Given the description of an element on the screen output the (x, y) to click on. 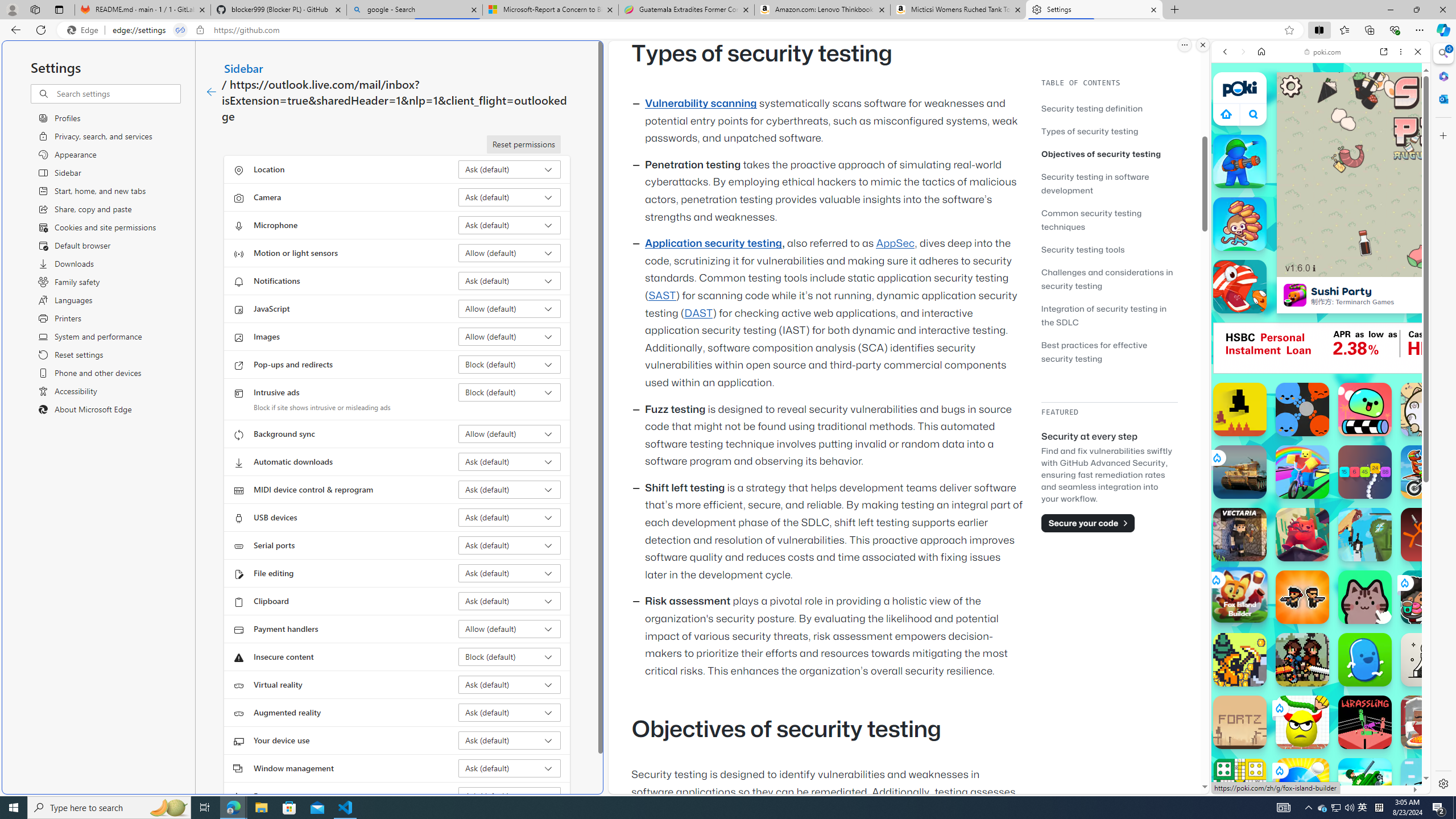
Fortz Fortz (1239, 722)
Security testing definition (1109, 108)
Stickman Fight: Ragdoll (1427, 534)
Intrusive ads Block (default) (509, 392)
Window management Ask (default) (509, 768)
Payment handlers Allow (default) (509, 628)
Tiger Tank (1239, 471)
Close split screen. (1202, 45)
Goober World (1364, 659)
Automatic downloads Ask (default) (509, 461)
Poki - Free Online Games - Play Now! (1315, 175)
